Given the description of an element on the screen output the (x, y) to click on. 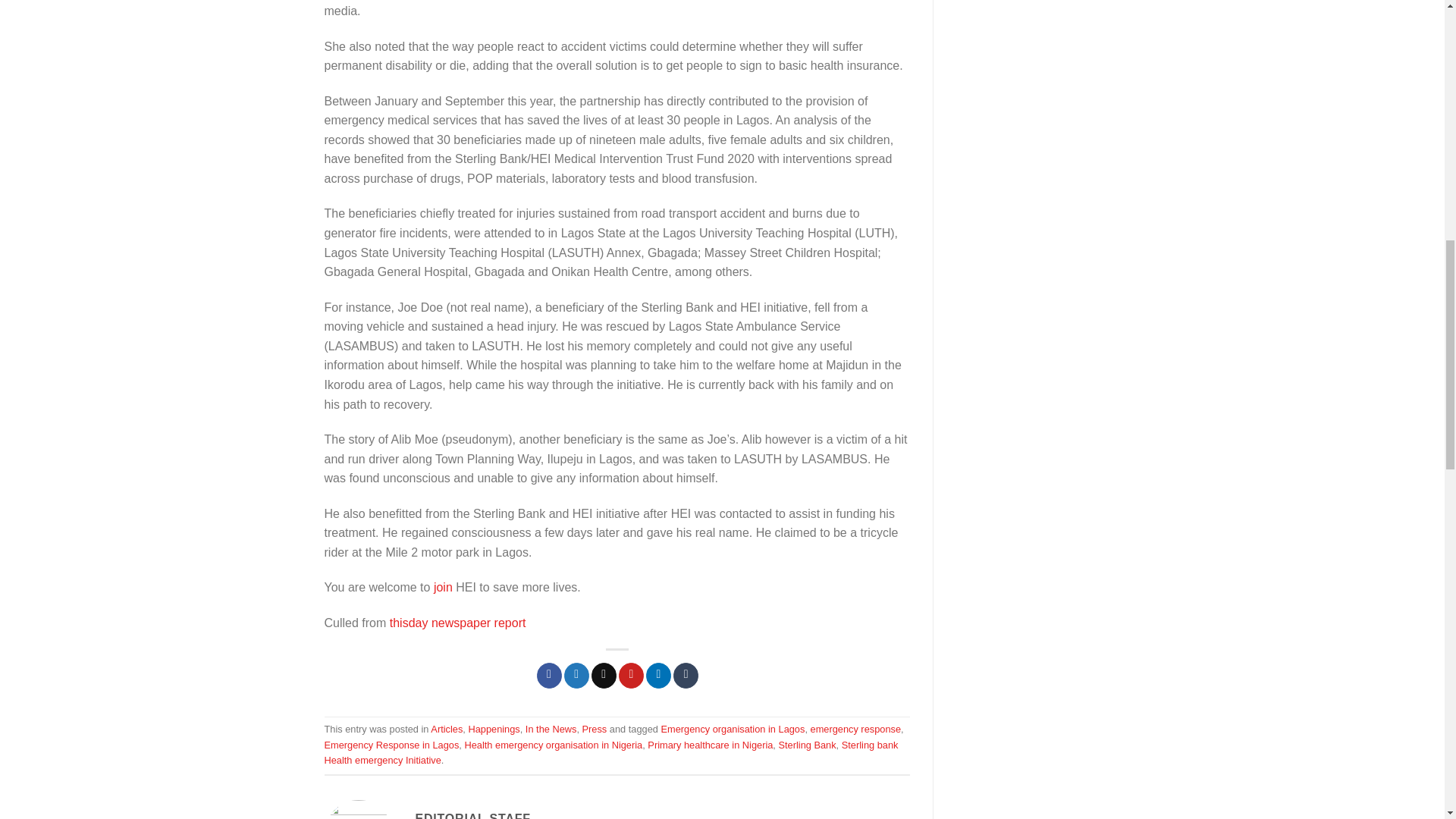
Share on LinkedIn (658, 675)
Share on Tumblr (685, 675)
Share on Twitter (576, 675)
join (442, 586)
thisday newspaper report (457, 622)
Share on Facebook (549, 675)
Pin on Pinterest (630, 675)
Email to a Friend (603, 675)
